Given the description of an element on the screen output the (x, y) to click on. 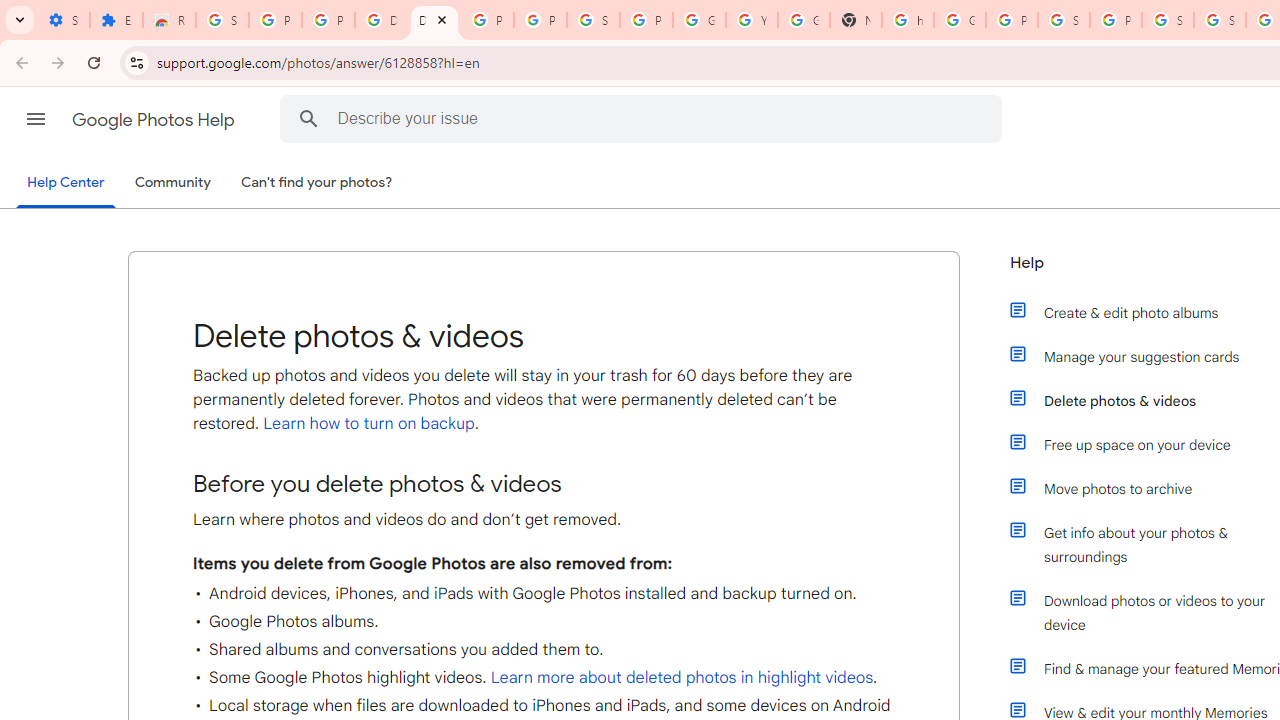
Can't find your photos? (317, 183)
Google Photos Help (155, 119)
Search Help Center (309, 118)
Sign in - Google Accounts (593, 20)
Reviews: Helix Fruit Jump Arcade Game (169, 20)
https://scholar.google.com/ (907, 20)
Describe your issue (644, 118)
Help Center (65, 183)
Delete photos & videos - Computer - Google Photos Help (381, 20)
